Given the description of an element on the screen output the (x, y) to click on. 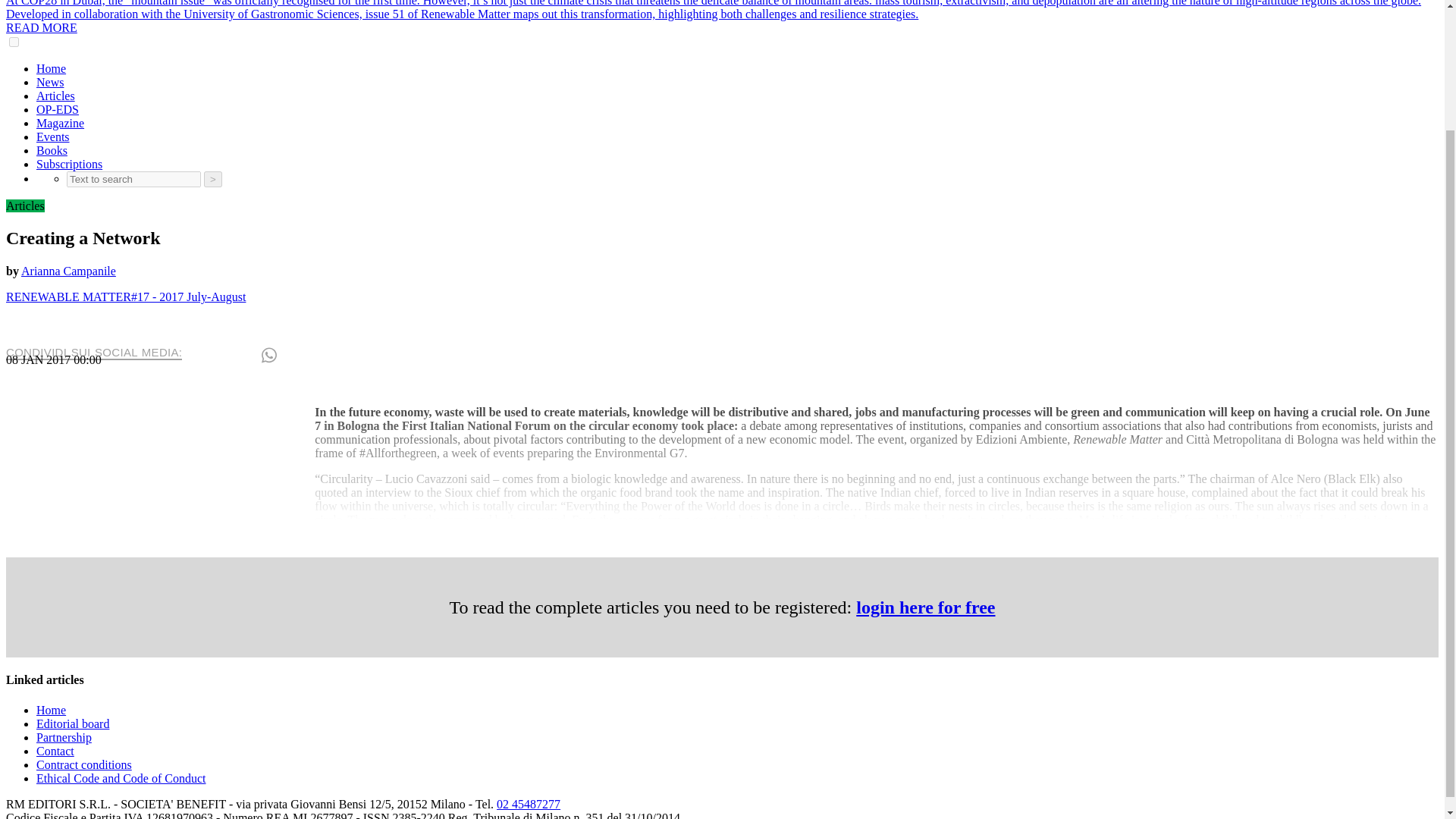
Articles (25, 205)
Partnership (63, 737)
Magazine (60, 123)
OP-EDS (57, 109)
Contract conditions (84, 764)
Editoriali (57, 109)
login here for free (925, 607)
Libri (51, 150)
News (50, 82)
Home (50, 709)
Partnership (63, 737)
Editorial board (72, 723)
Abbonamenti (68, 164)
02 45487277 (528, 803)
Eventi (52, 136)
